Given the description of an element on the screen output the (x, y) to click on. 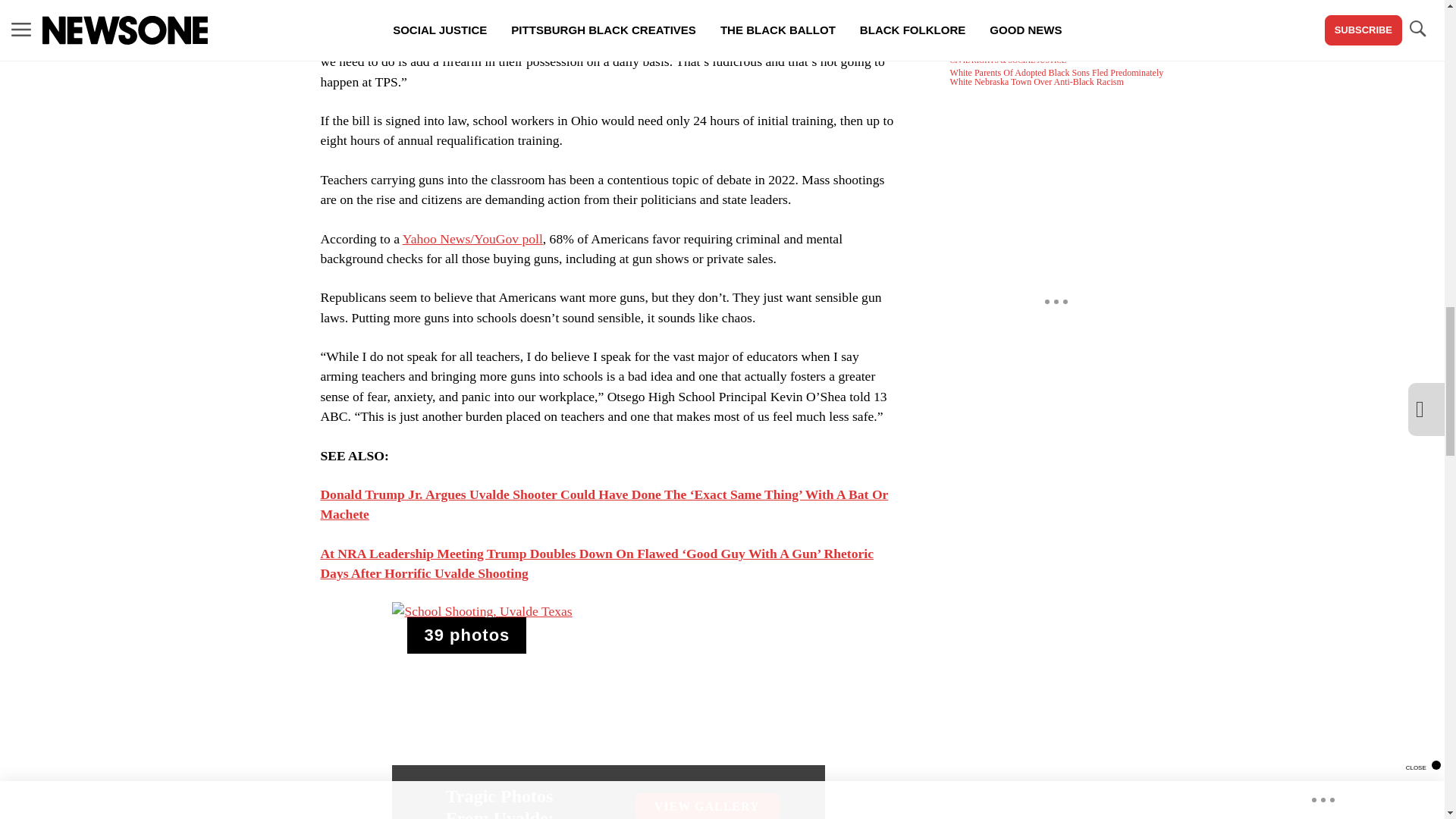
Media Playlist (466, 635)
